Given the description of an element on the screen output the (x, y) to click on. 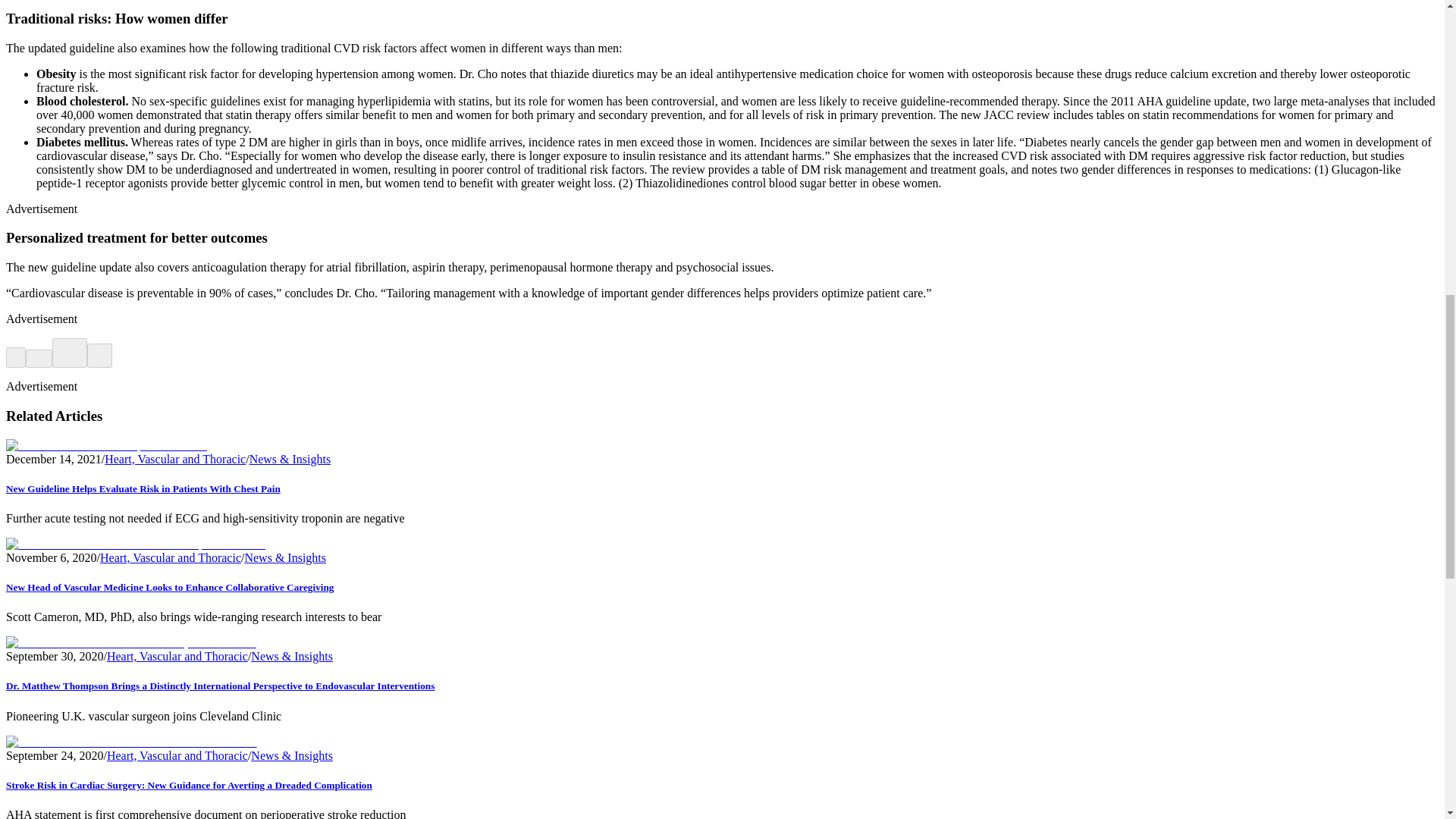
Heart, Vascular and Thoracic (170, 557)
Heart, Vascular and Thoracic (175, 459)
